Given the description of an element on the screen output the (x, y) to click on. 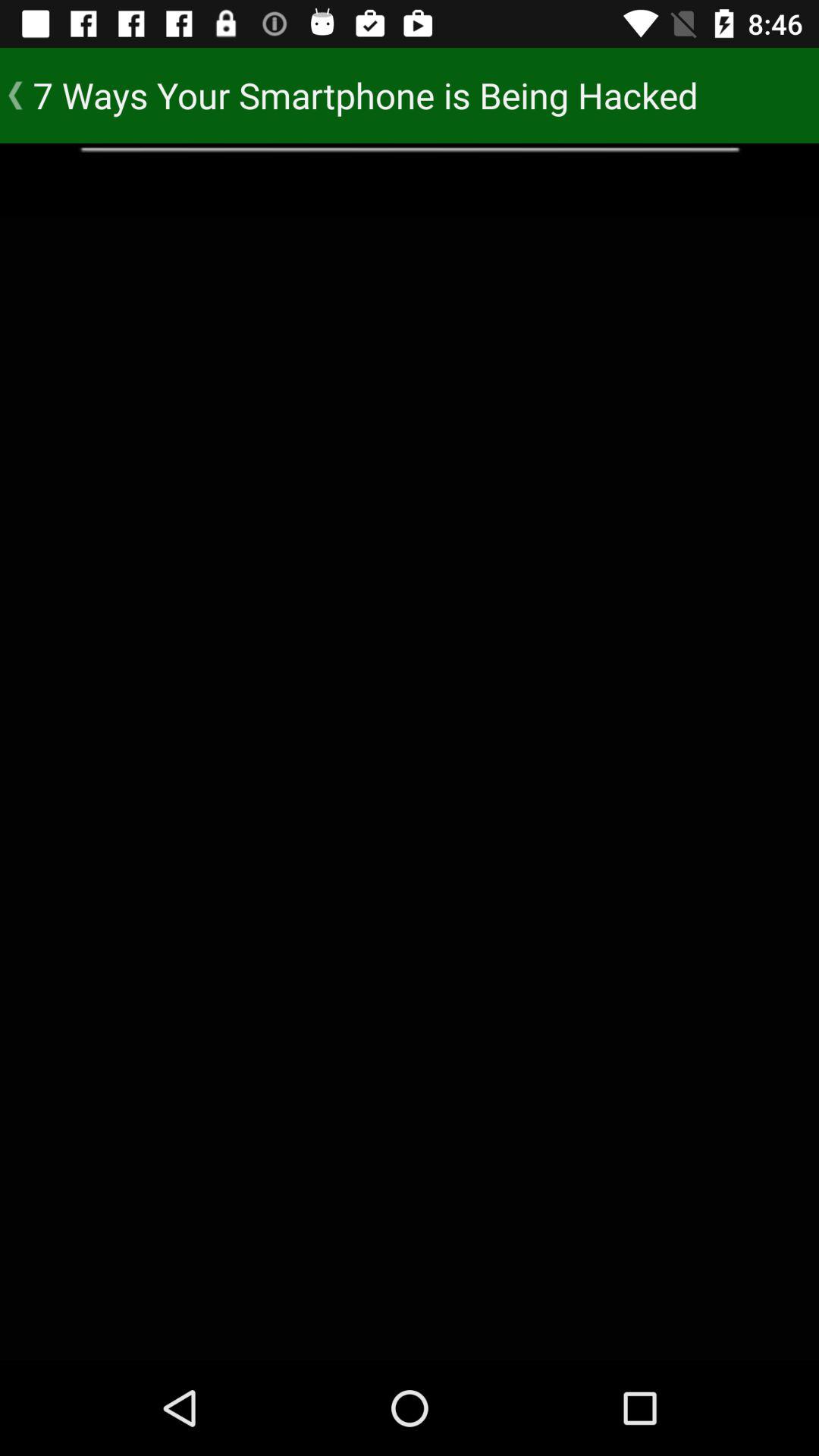
select the app below 7 ways your app (409, 179)
